Given the description of an element on the screen output the (x, y) to click on. 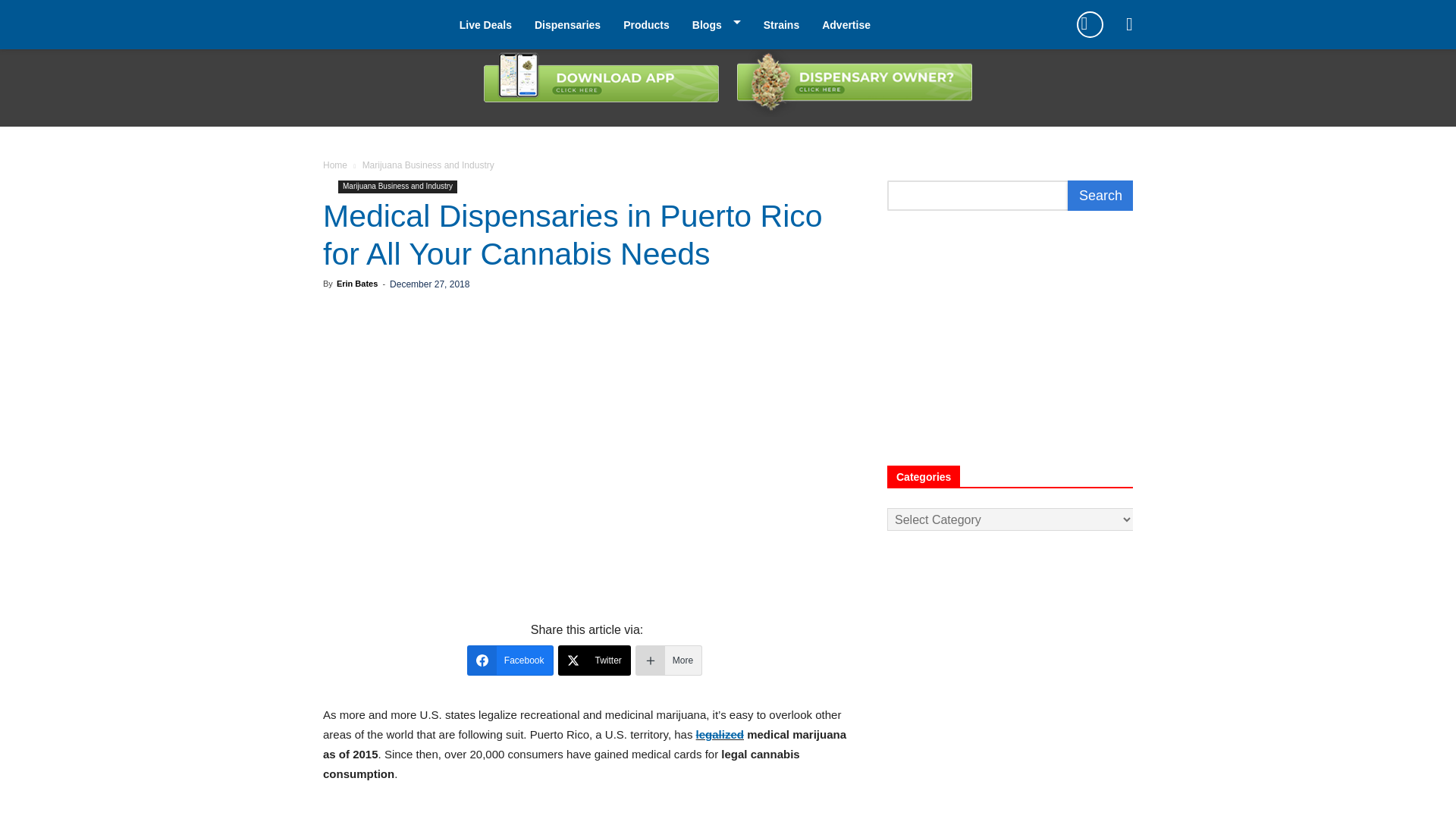
Erin Bates (356, 283)
Live Deals (486, 24)
legalized (719, 734)
Marijuana Business and Industry (397, 186)
Products (646, 24)
Twitter (593, 660)
Dispensaries (566, 24)
Facebook (510, 660)
More (667, 660)
Advertise (846, 24)
